Given the description of an element on the screen output the (x, y) to click on. 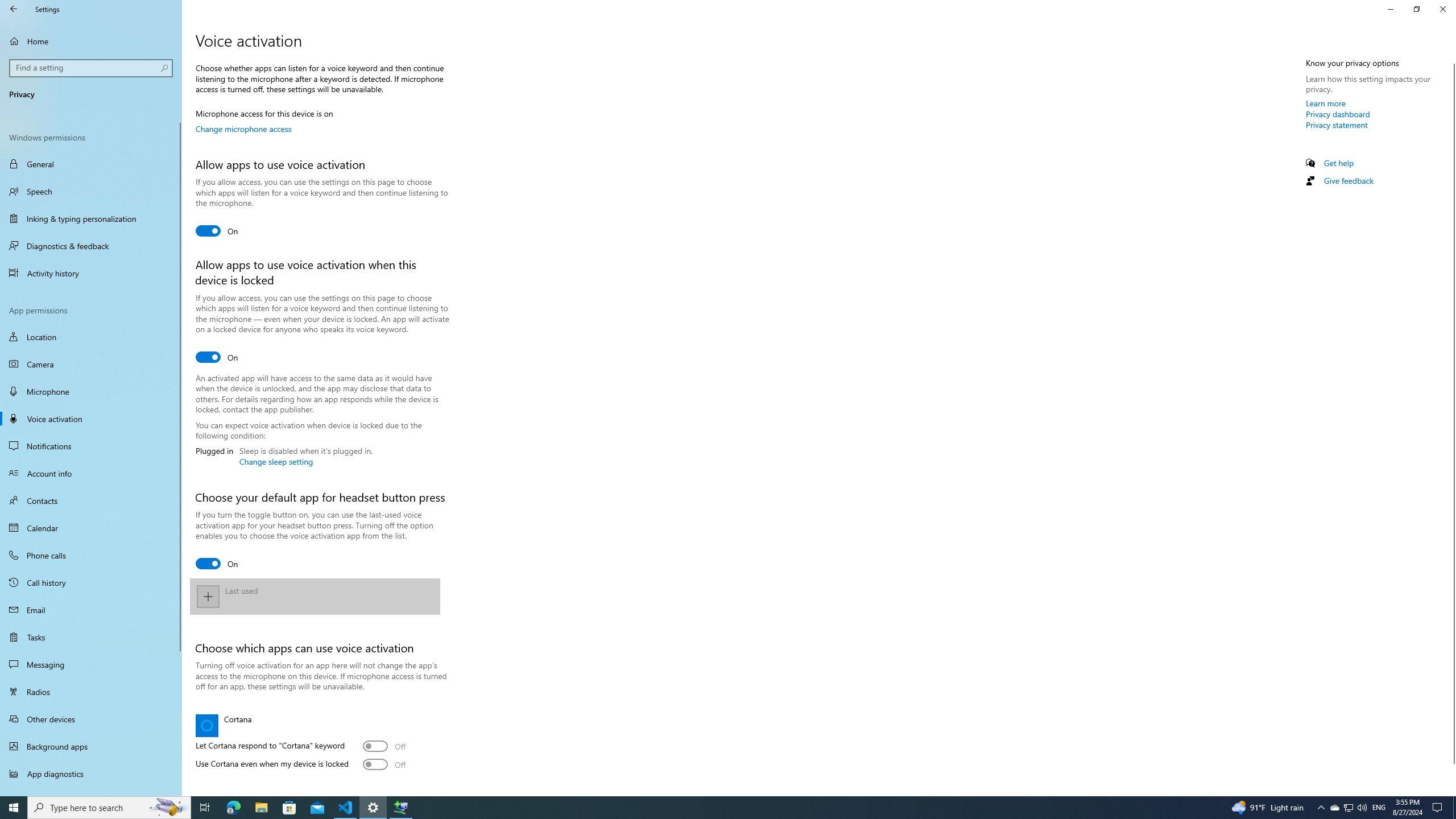
Vertical Small Decrease (1451, 58)
App diagnostics (91, 773)
Vertical Small Increase (1451, 791)
Minimize Settings (1390, 9)
Extensible Wizards Host Process - 1 running window (400, 807)
Vertical (1451, 425)
Contacts (91, 500)
Location (91, 336)
Activity history (91, 272)
Camera (91, 363)
